Given the description of an element on the screen output the (x, y) to click on. 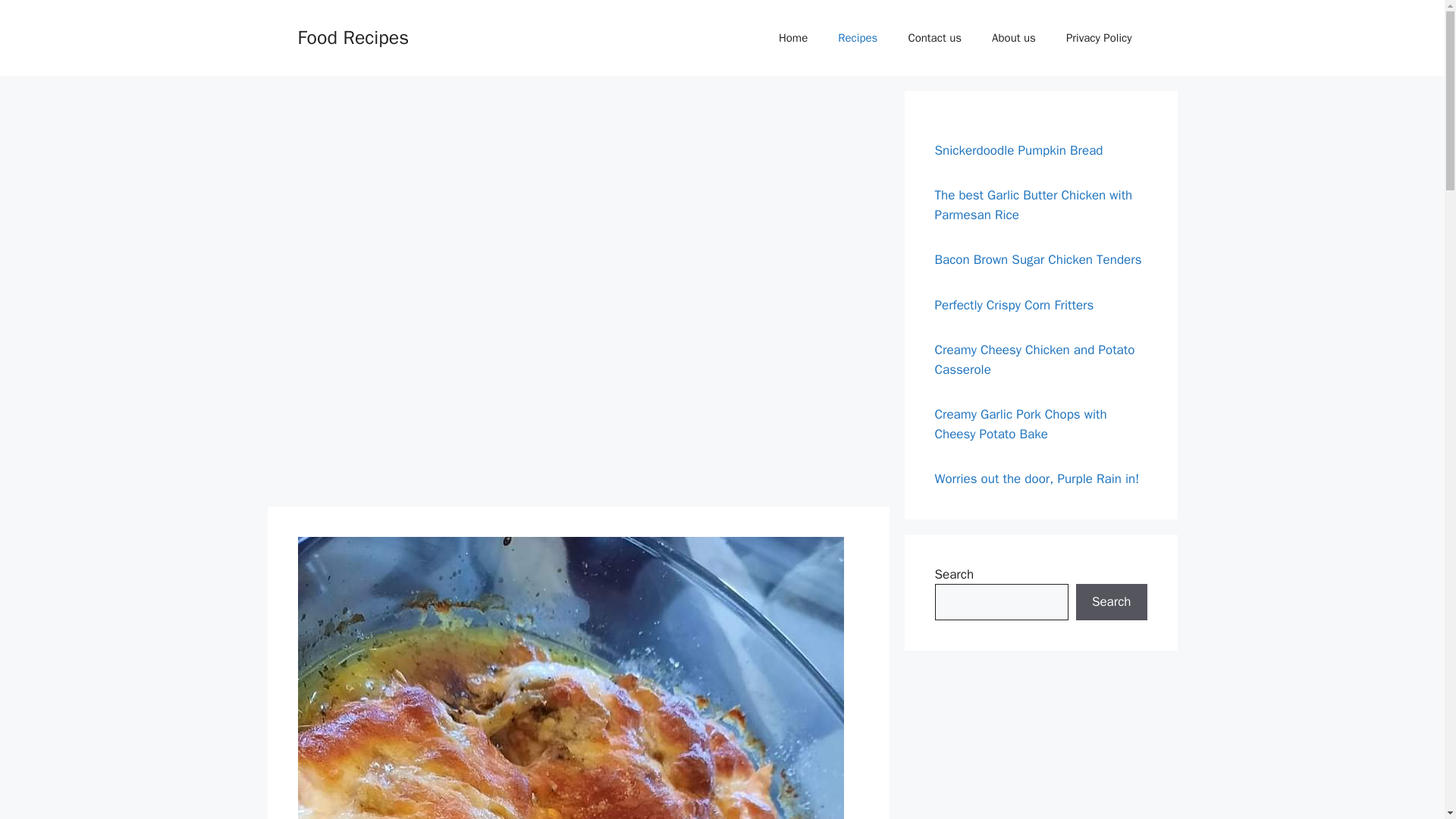
Home (792, 37)
Snickerdoodle Pumpkin Bread (1018, 150)
Bacon Brown Sugar Chicken Tenders  (1039, 259)
Recipes (857, 37)
Creamy Garlic Pork Chops with Cheesy Potato Bake  (1020, 424)
About us (1013, 37)
Food Recipes (353, 37)
Creamy Cheesy Chicken and Potato Casserole (1034, 359)
Perfectly Crispy Corn Fritters  (1015, 304)
Worries out the door, Purple Rain in!  (1038, 478)
The best Garlic Butter Chicken with Parmesan Rice (1033, 204)
Search (1111, 601)
Contact us (934, 37)
Privacy Policy (1099, 37)
